Given the description of an element on the screen output the (x, y) to click on. 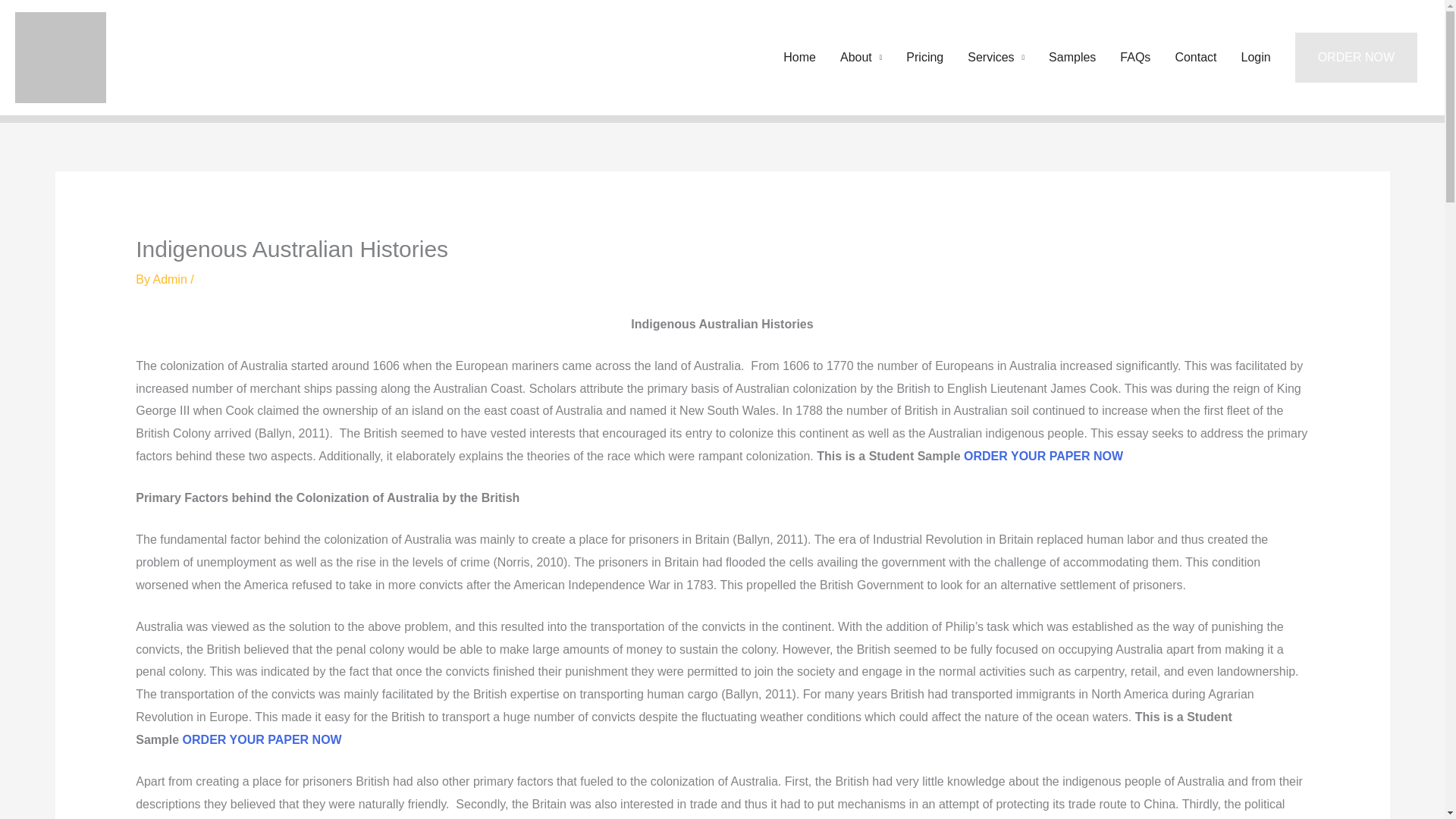
About (860, 57)
ORDER YOUR PAPER NOW (262, 739)
Admin (171, 278)
Samples (1072, 57)
Home (799, 57)
ORDER YOUR PAPER NOW (1042, 455)
View all posts by Admin (171, 278)
ORDER NOW (1355, 57)
Contact (1194, 57)
Services (995, 57)
